Given the description of an element on the screen output the (x, y) to click on. 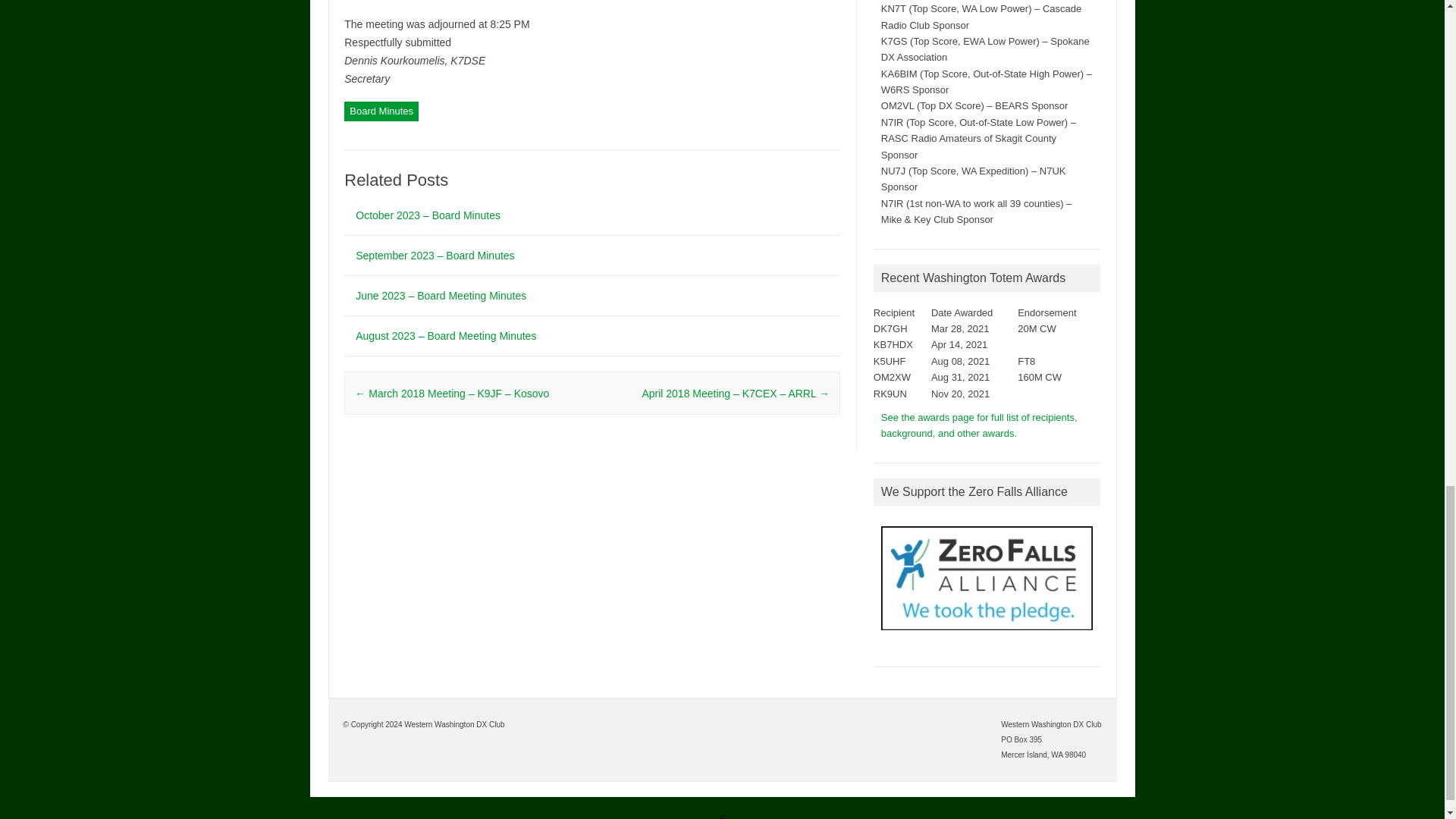
Board Minutes (381, 111)
